Given the description of an element on the screen output the (x, y) to click on. 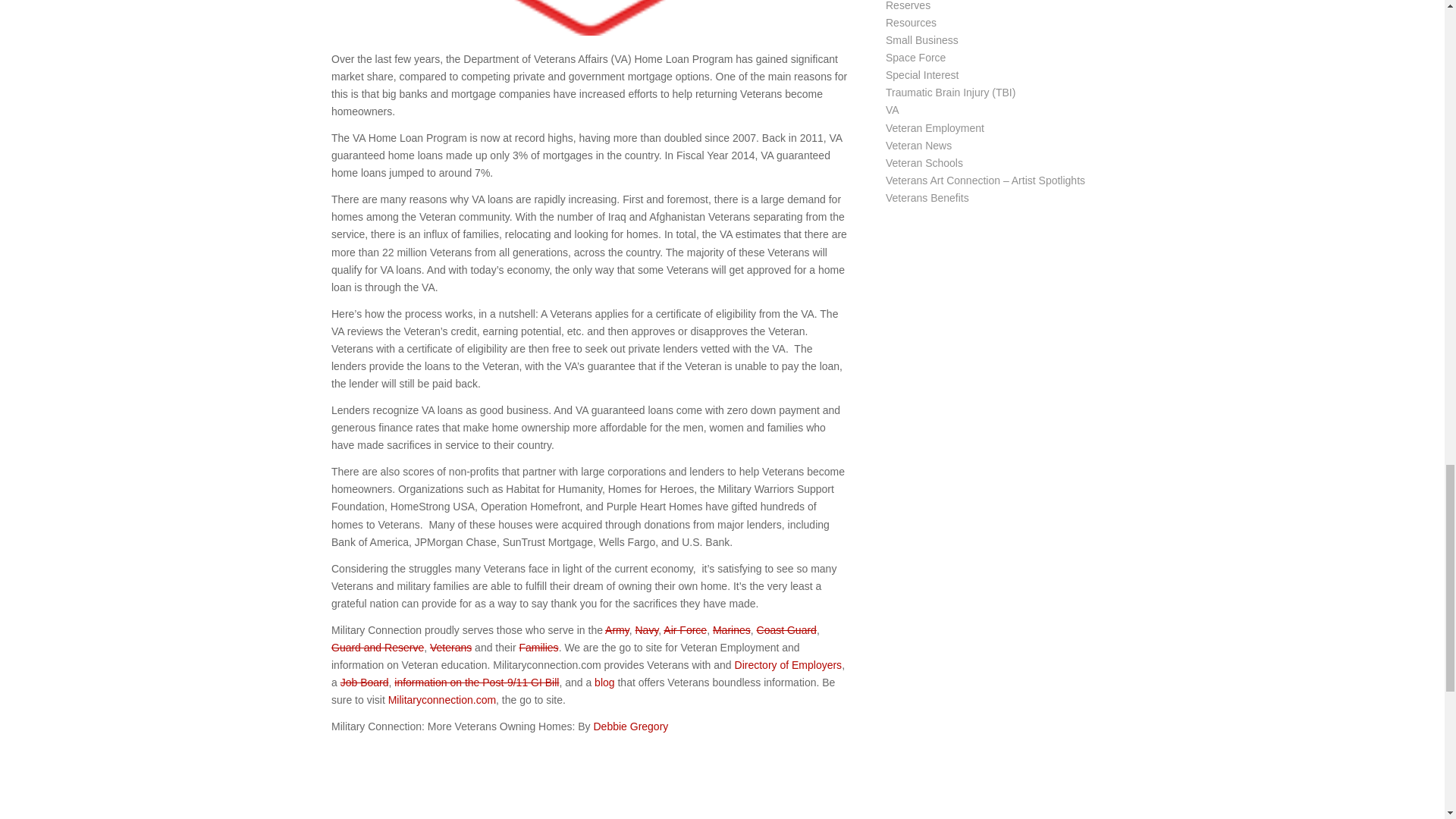
Directory of Employers (789, 664)
Marines (732, 630)
Veterans (450, 647)
Air Force (684, 630)
Army (616, 630)
Job Board (364, 682)
Families (537, 647)
Guard and Reserve (377, 647)
Coast Guard (786, 630)
Navy (646, 630)
